Given the description of an element on the screen output the (x, y) to click on. 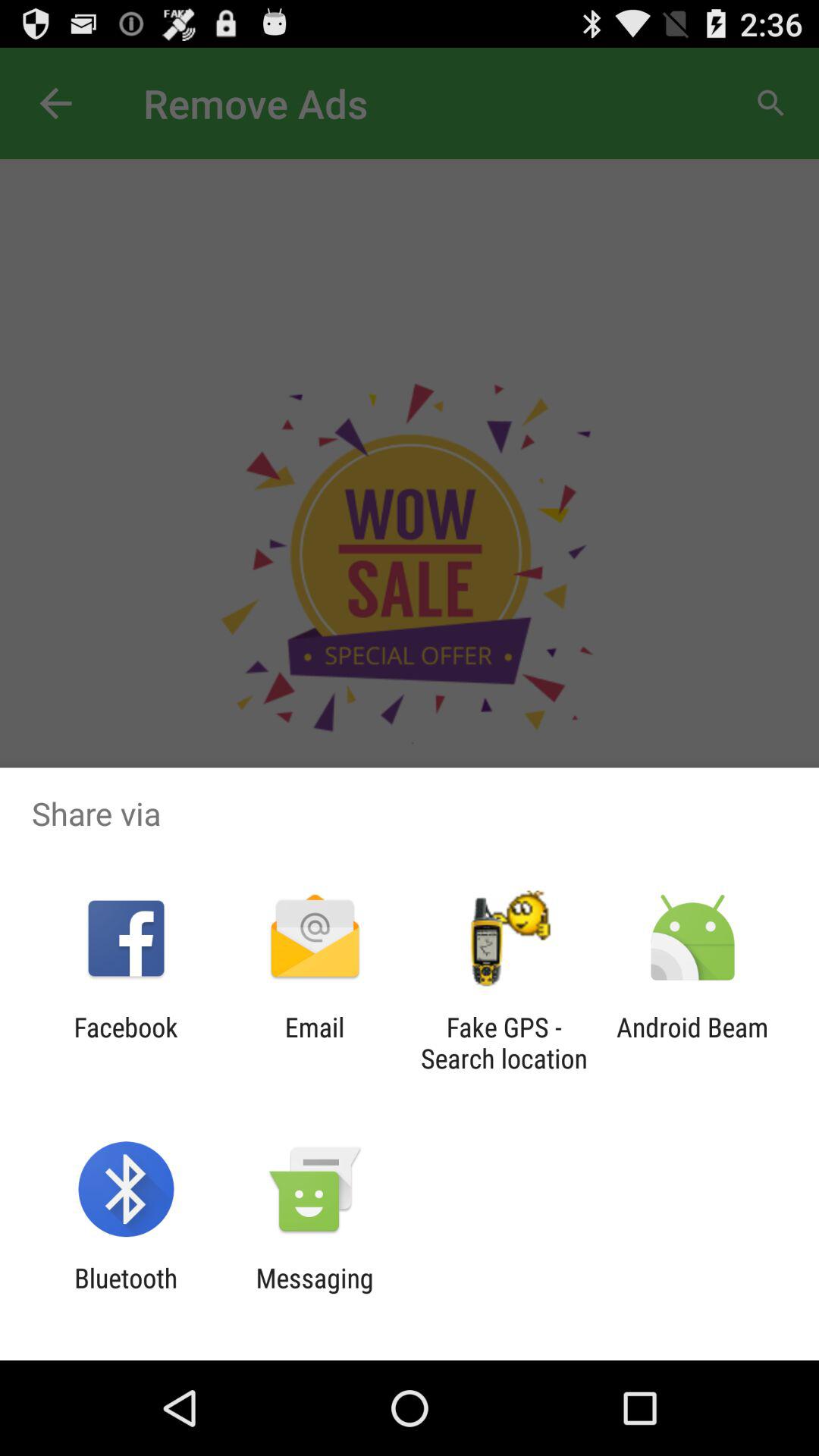
press the item to the right of email (503, 1042)
